Given the description of an element on the screen output the (x, y) to click on. 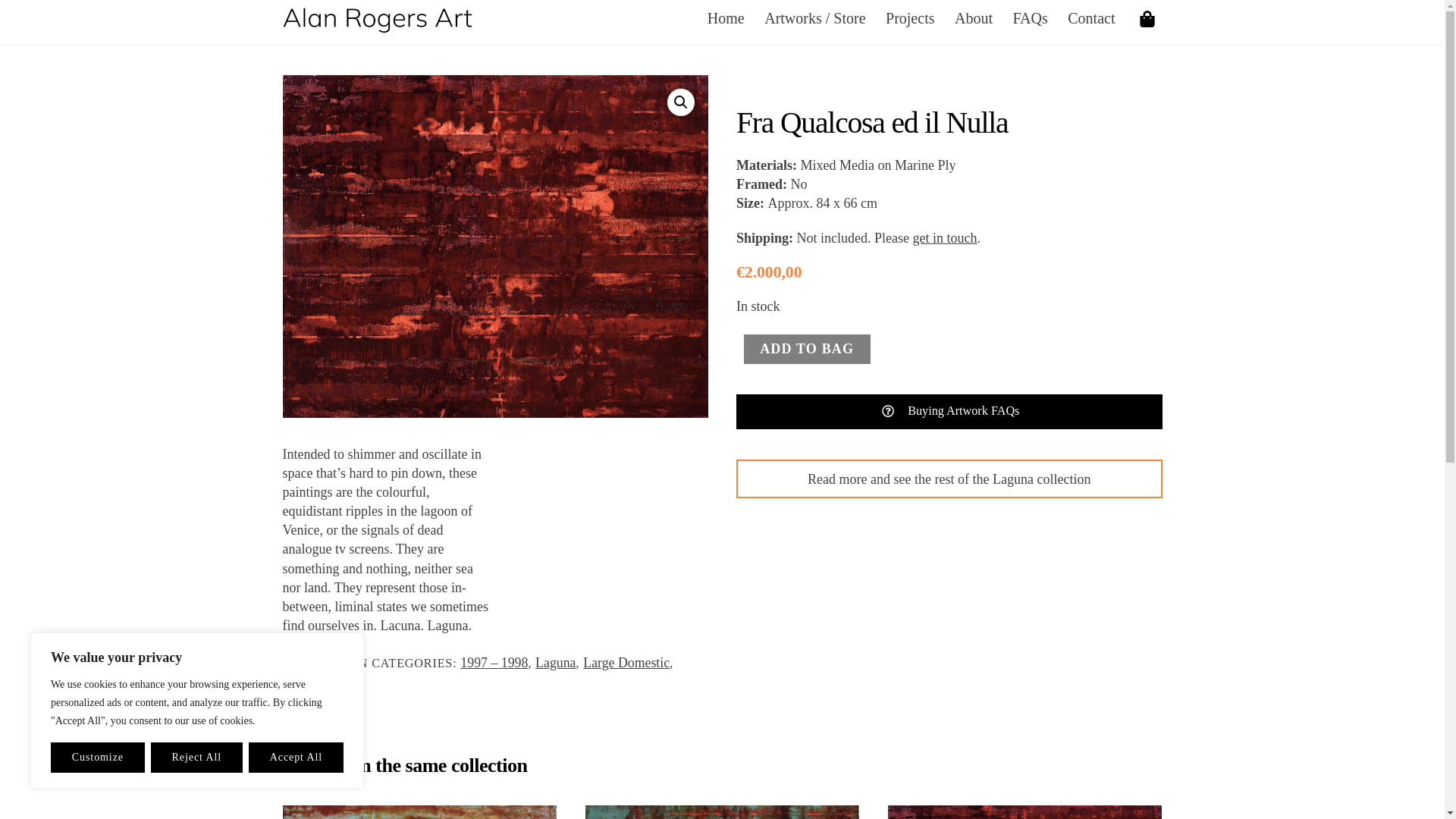
06-FRA-QUALCOSA-ED-IL-NULLA (1024, 812)
Customize (97, 757)
Laguna (555, 662)
get in touch (944, 237)
Home (727, 18)
ADD TO BAG (807, 349)
Accept All (295, 757)
Read more and see the rest of the Laguna collection (948, 478)
Alan Rogers Art (376, 24)
08-MUDDY-WATERS (419, 812)
